Given the description of an element on the screen output the (x, y) to click on. 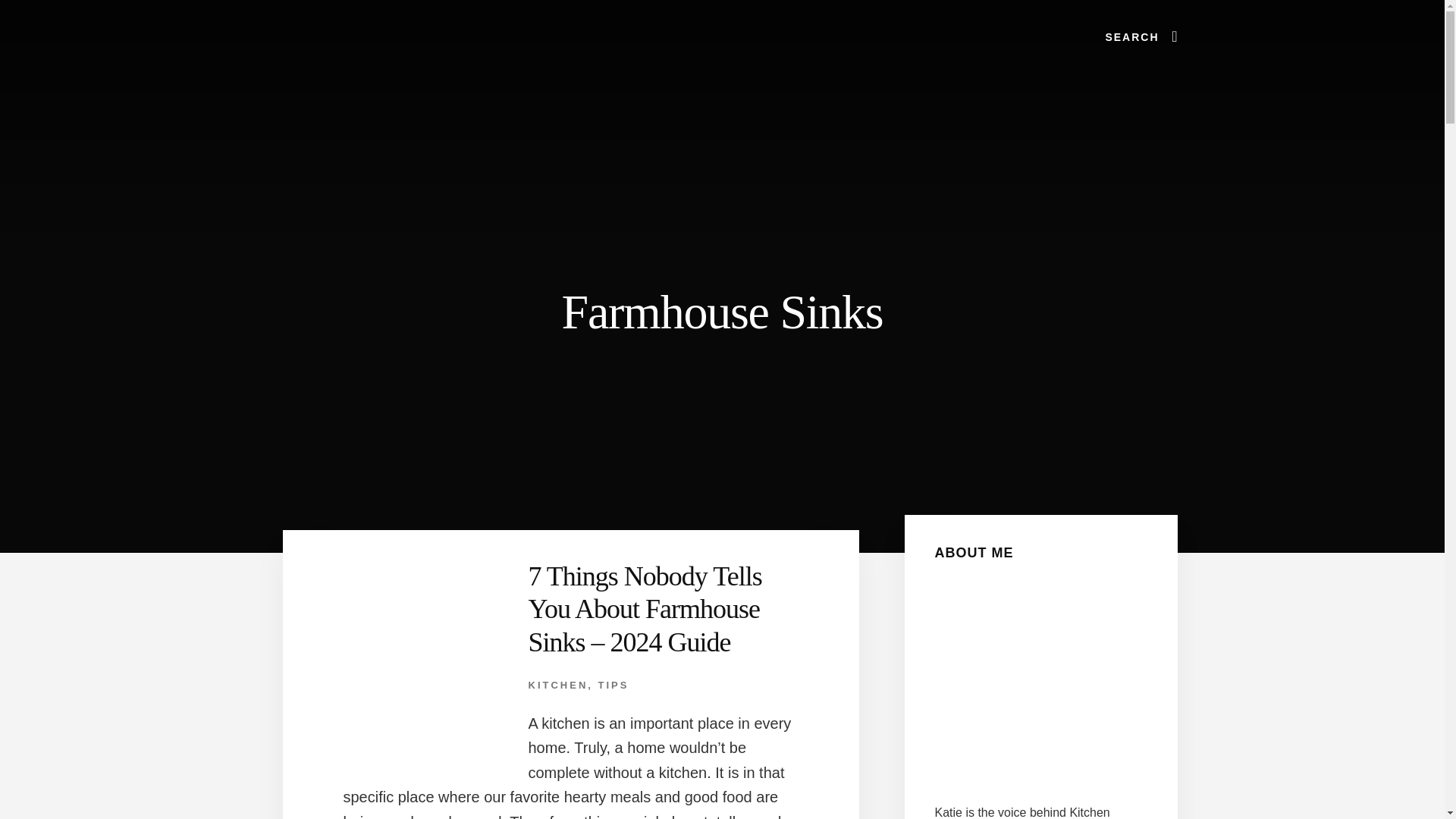
KITCHEN (557, 685)
TIPS (613, 685)
